Given the description of an element on the screen output the (x, y) to click on. 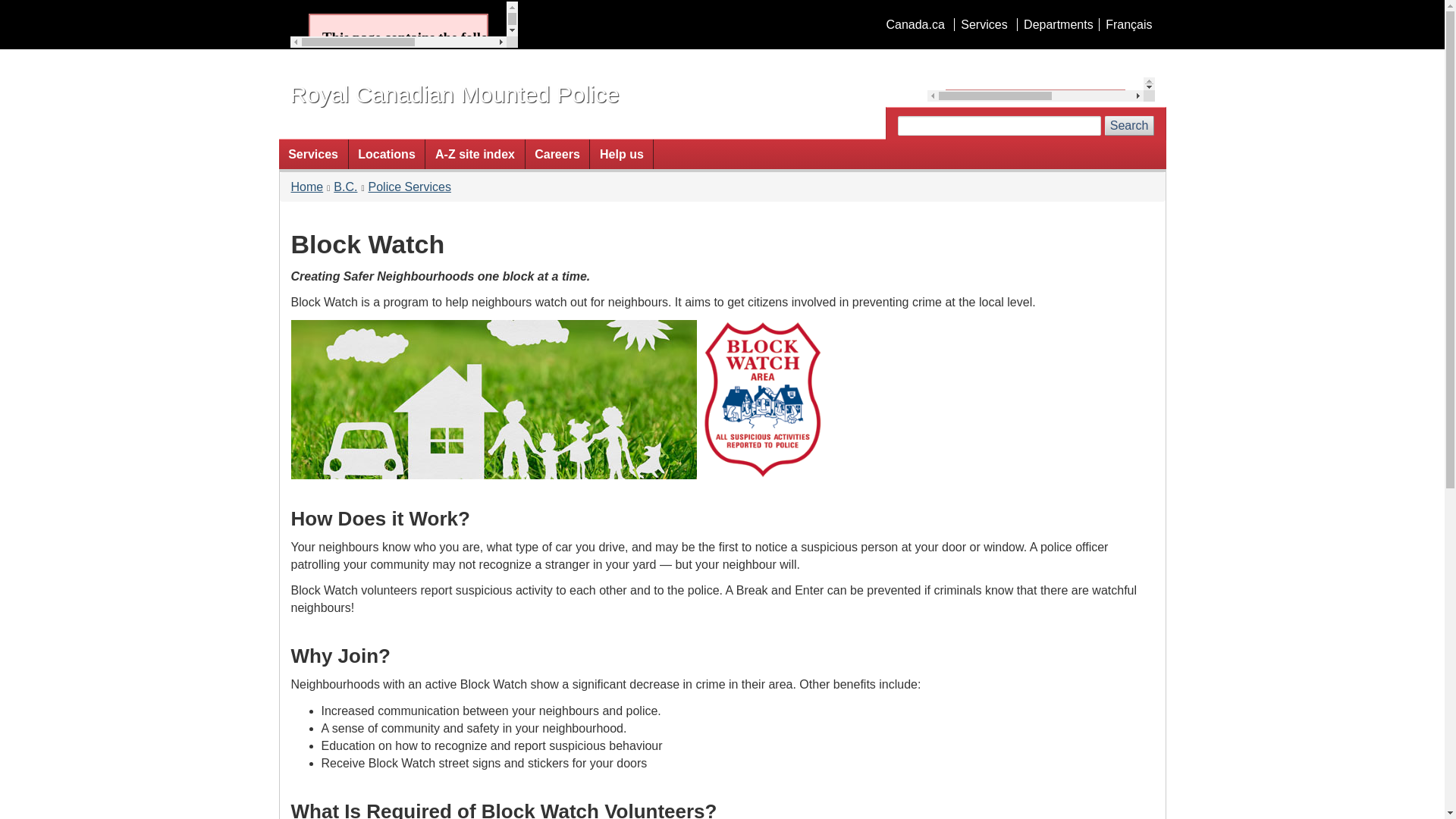
Royal Canadian Mounted Police (453, 94)
Departments (1057, 24)
Help us (620, 153)
Search (1129, 125)
Police Services (409, 186)
Services (313, 153)
A-Z site index (474, 153)
Locations (387, 153)
Careers (557, 153)
Services (983, 24)
